Given the description of an element on the screen output the (x, y) to click on. 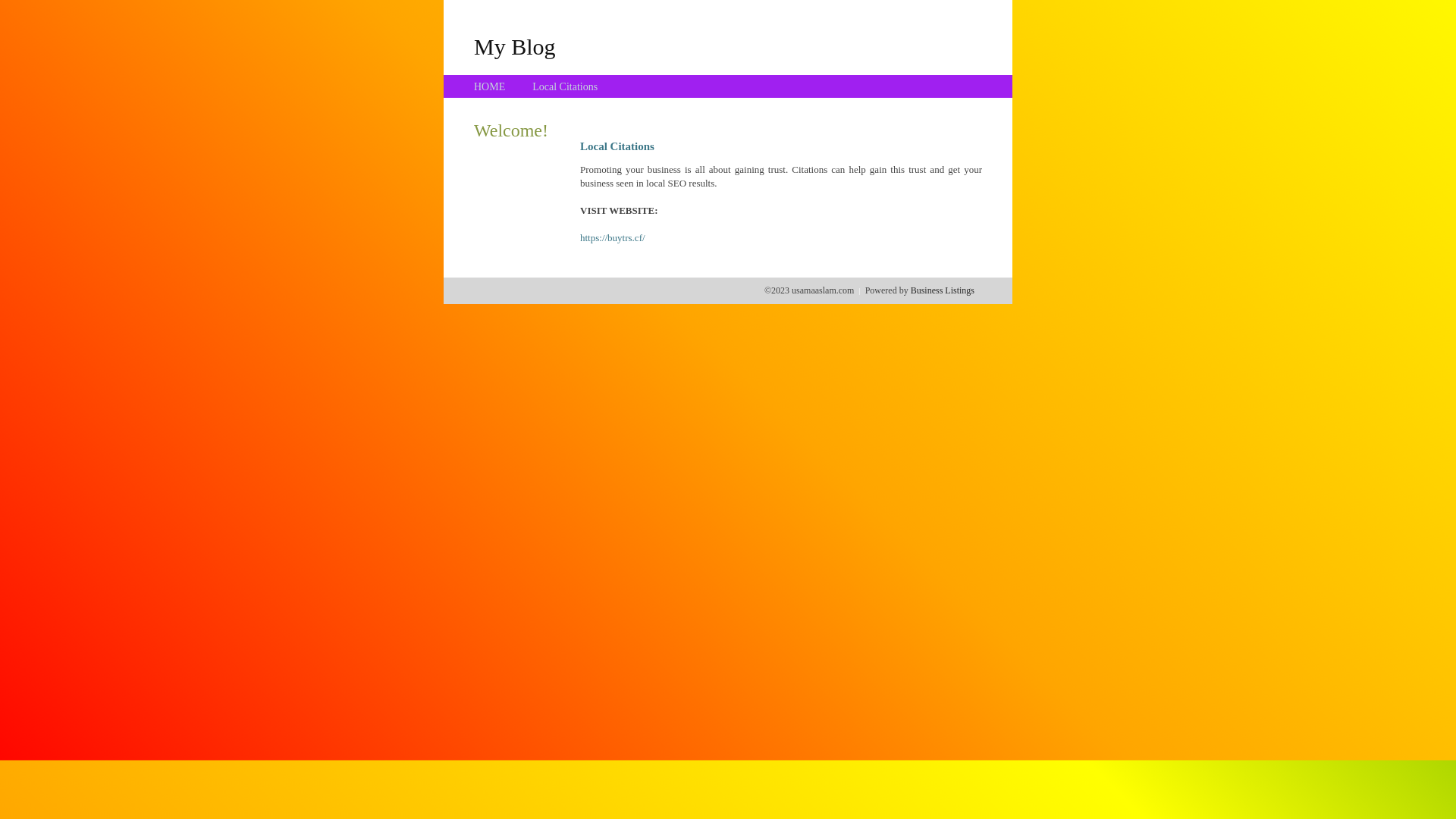
HOME Element type: text (489, 86)
Local Citations Element type: text (564, 86)
https://buytrs.cf/ Element type: text (612, 237)
Business Listings Element type: text (942, 290)
My Blog Element type: text (514, 46)
